Given the description of an element on the screen output the (x, y) to click on. 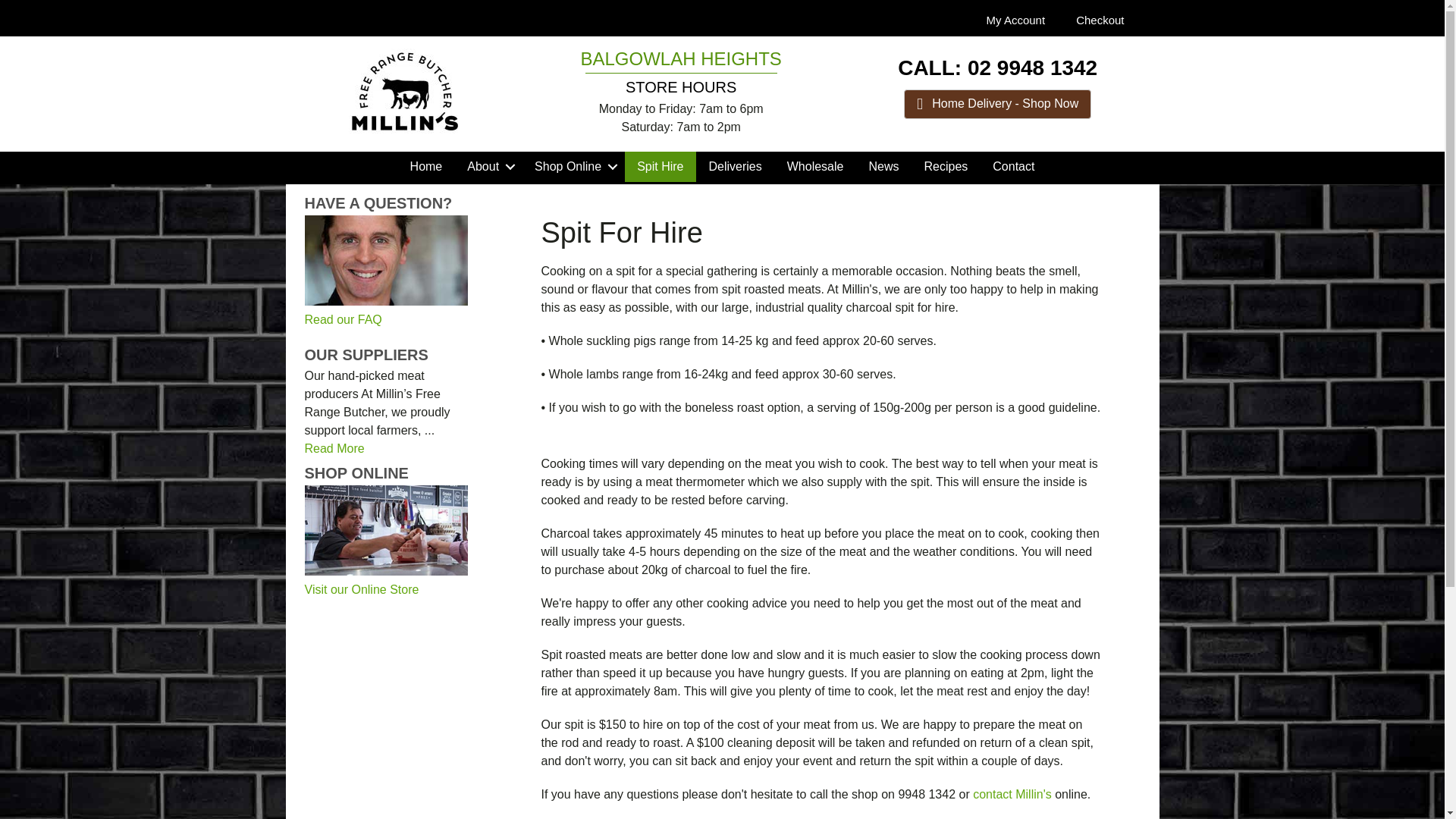
Online Butcher Shop (361, 589)
CALL: 02 9948 1342 (997, 67)
Deliveries (734, 166)
Checkout (1099, 20)
View the Frequently Asked Questions (342, 318)
Wholesale (815, 166)
CALL:  02 9948 1342 (997, 67)
Home Delivery - Shop Now (1086, 103)
News (883, 166)
